Given the description of an element on the screen output the (x, y) to click on. 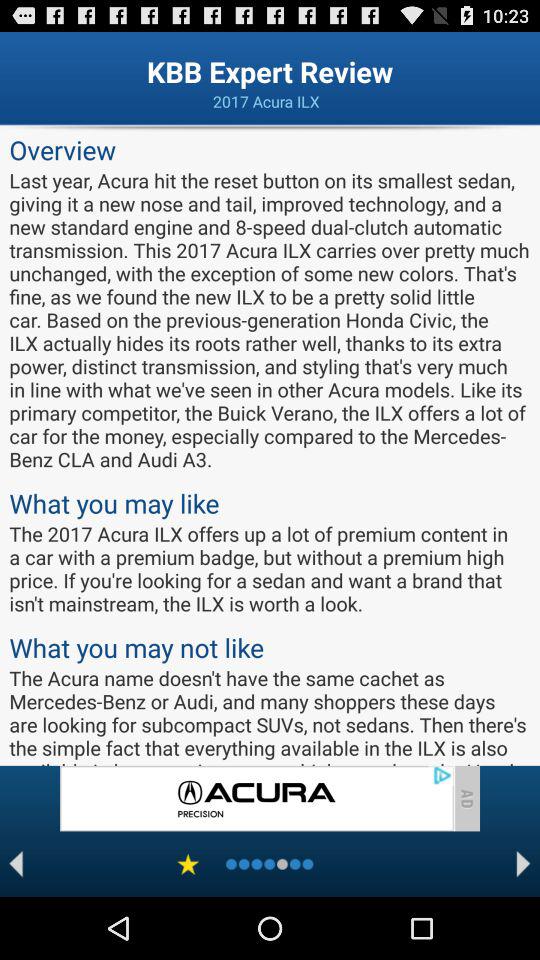
go to previous screen (16, 864)
